Given the description of an element on the screen output the (x, y) to click on. 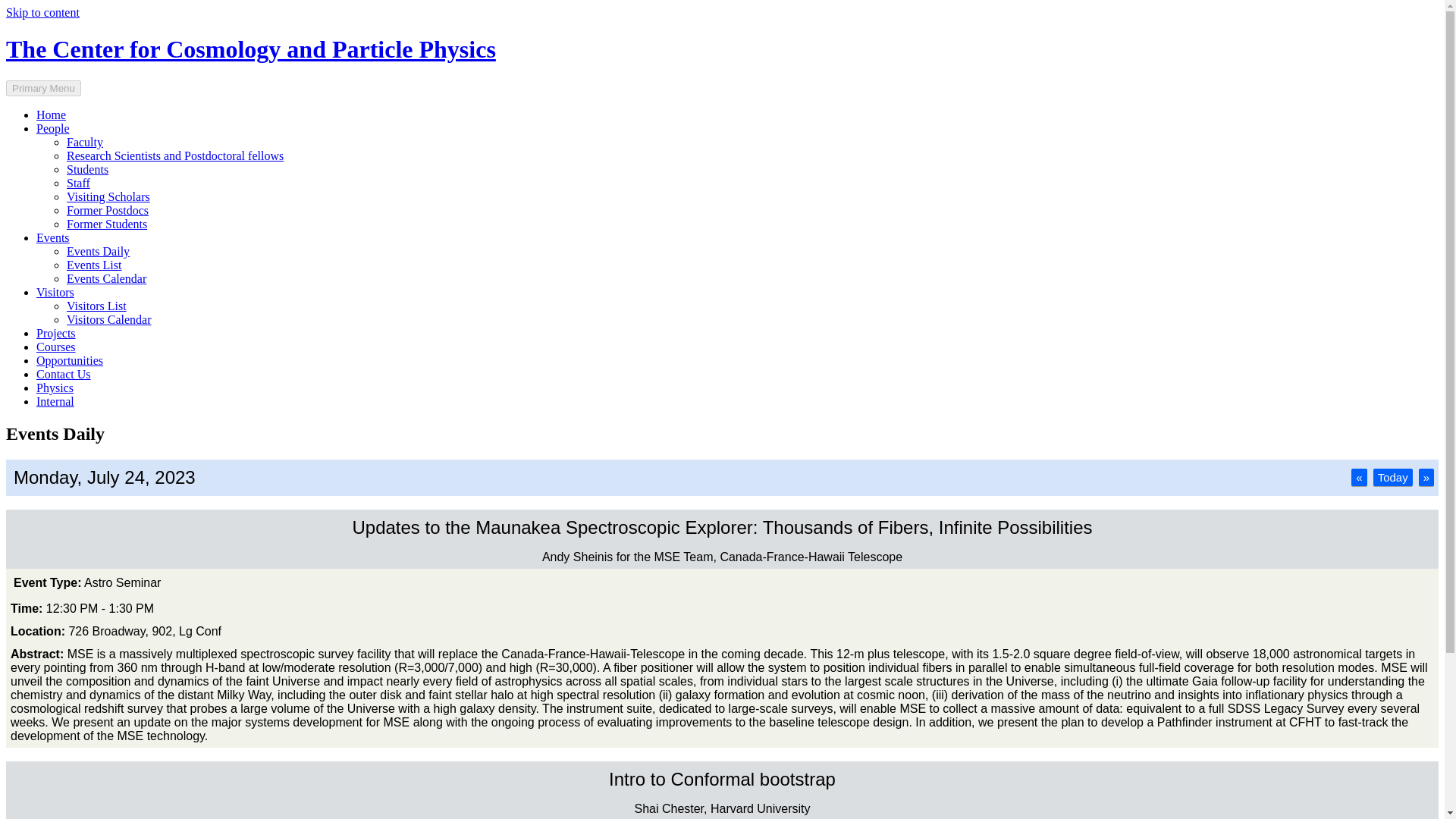
Events Daily (97, 250)
Internal (55, 400)
Visitors (55, 291)
Opportunities (69, 359)
Courses (55, 346)
Primary Menu (43, 88)
Events Calendar (106, 278)
Events List (93, 264)
Former Postdocs (107, 210)
Home (50, 114)
